Given the description of an element on the screen output the (x, y) to click on. 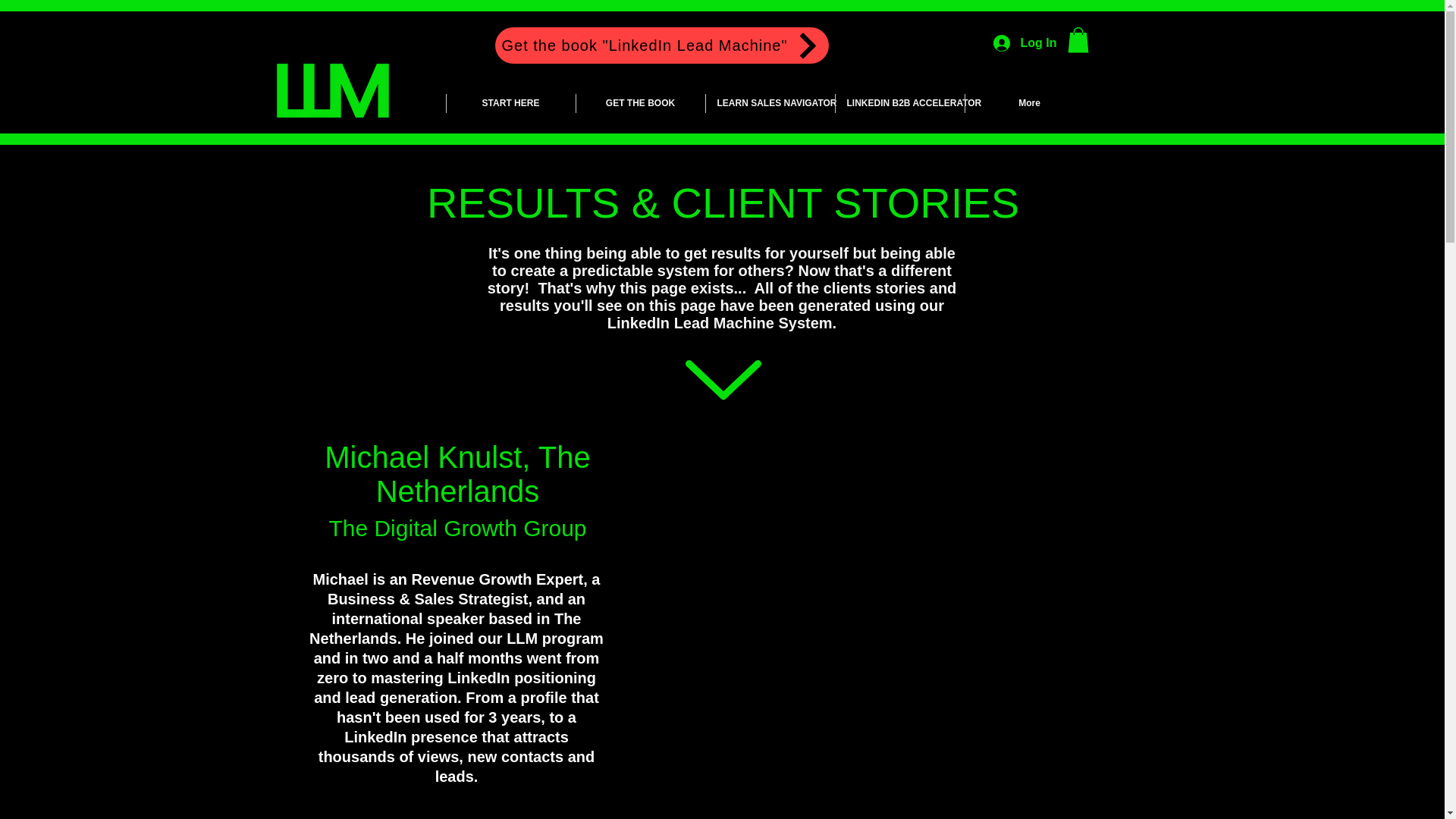
LINKEDIN B2B ACCELERATOR (898, 103)
Log In (1024, 43)
Get the book "LinkedIn Lead Machine" (661, 45)
LEARN SALES NAVIGATOR (769, 103)
GET THE BOOK (639, 103)
START HERE (510, 103)
